Given the description of an element on the screen output the (x, y) to click on. 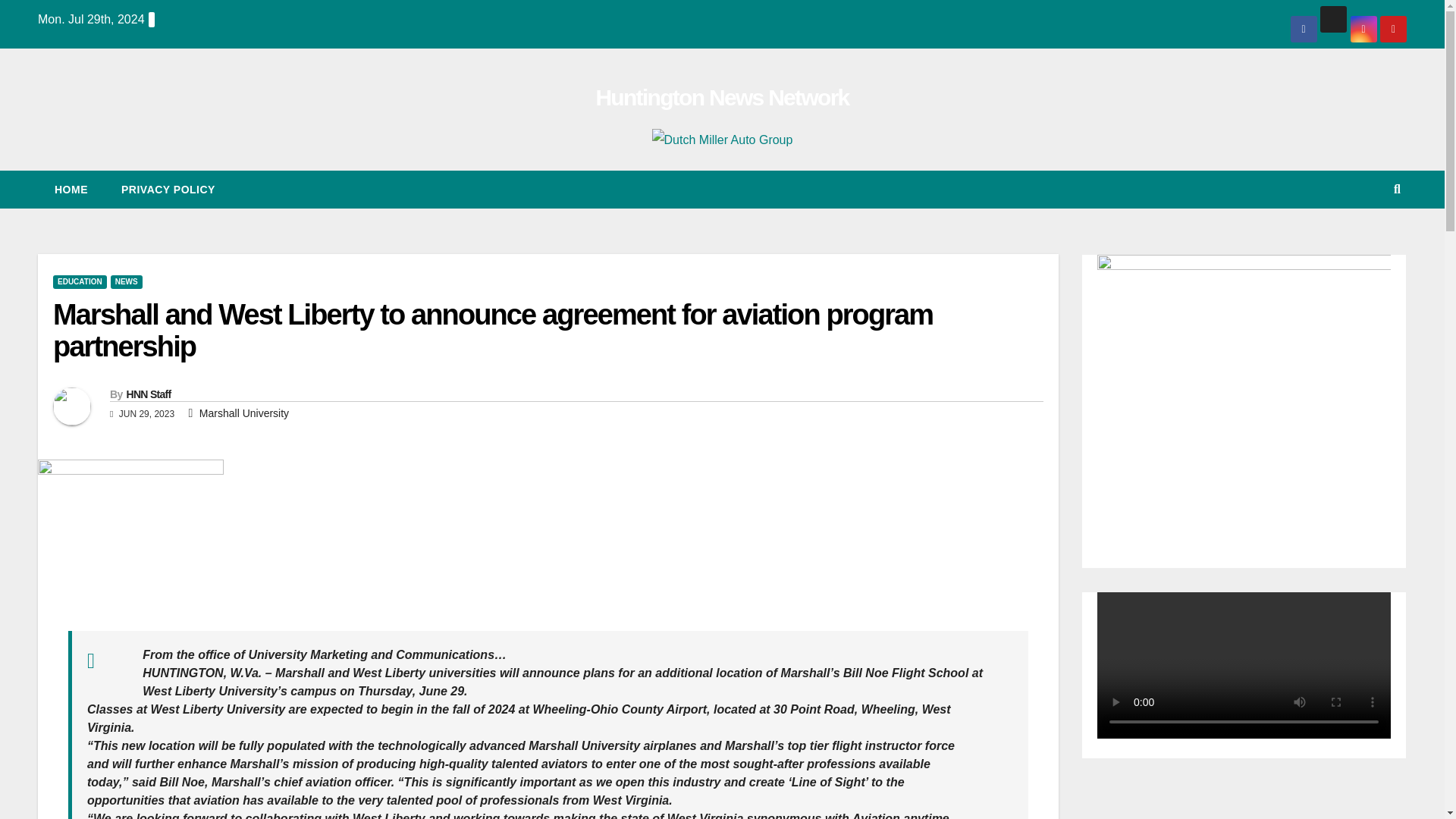
Home (70, 189)
PRIVACY POLICY (167, 189)
HOME (70, 189)
Marshall University (243, 413)
EDUCATION (79, 282)
Huntington News Network (721, 97)
NEWS (126, 282)
HNN Staff (147, 394)
